Given the description of an element on the screen output the (x, y) to click on. 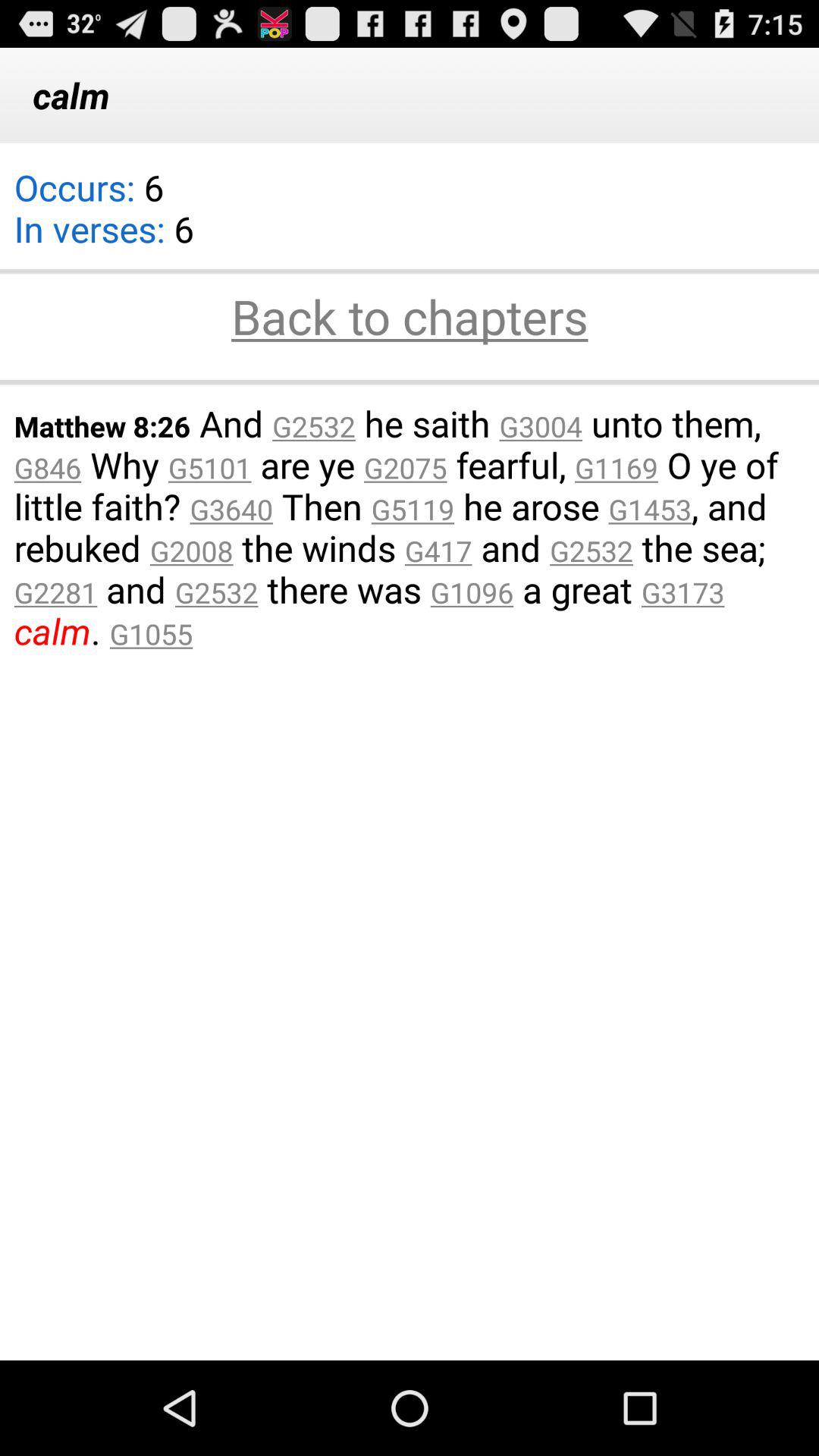
jump until occurs 6 in item (103, 218)
